Given the description of an element on the screen output the (x, y) to click on. 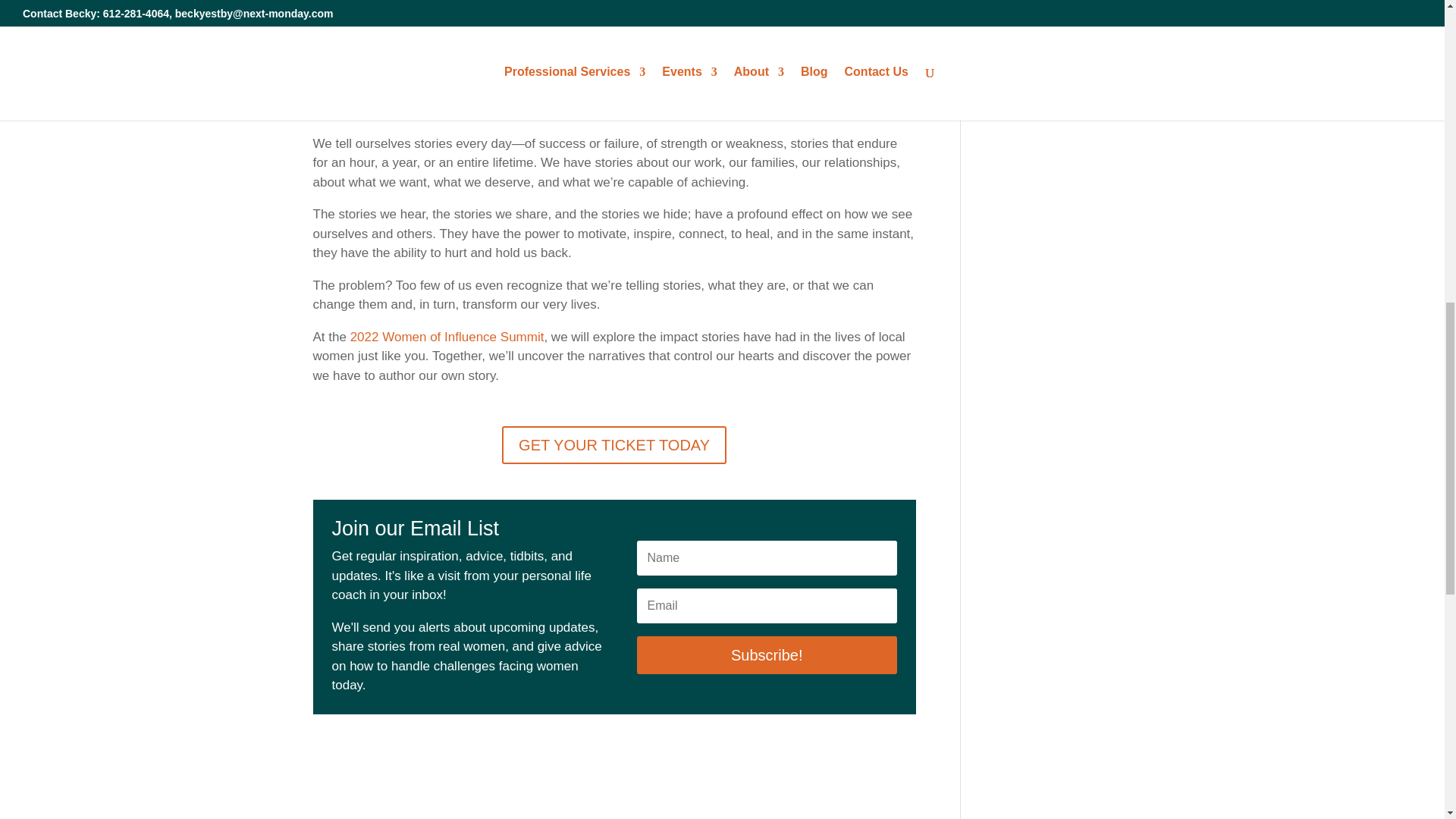
2022 Women of Influence Summit (447, 336)
GET YOUR TICKET TODAY (614, 444)
Subscribe! (766, 655)
WomenOfInfluenceSummit-Logo2022 (614, 6)
